Given the description of an element on the screen output the (x, y) to click on. 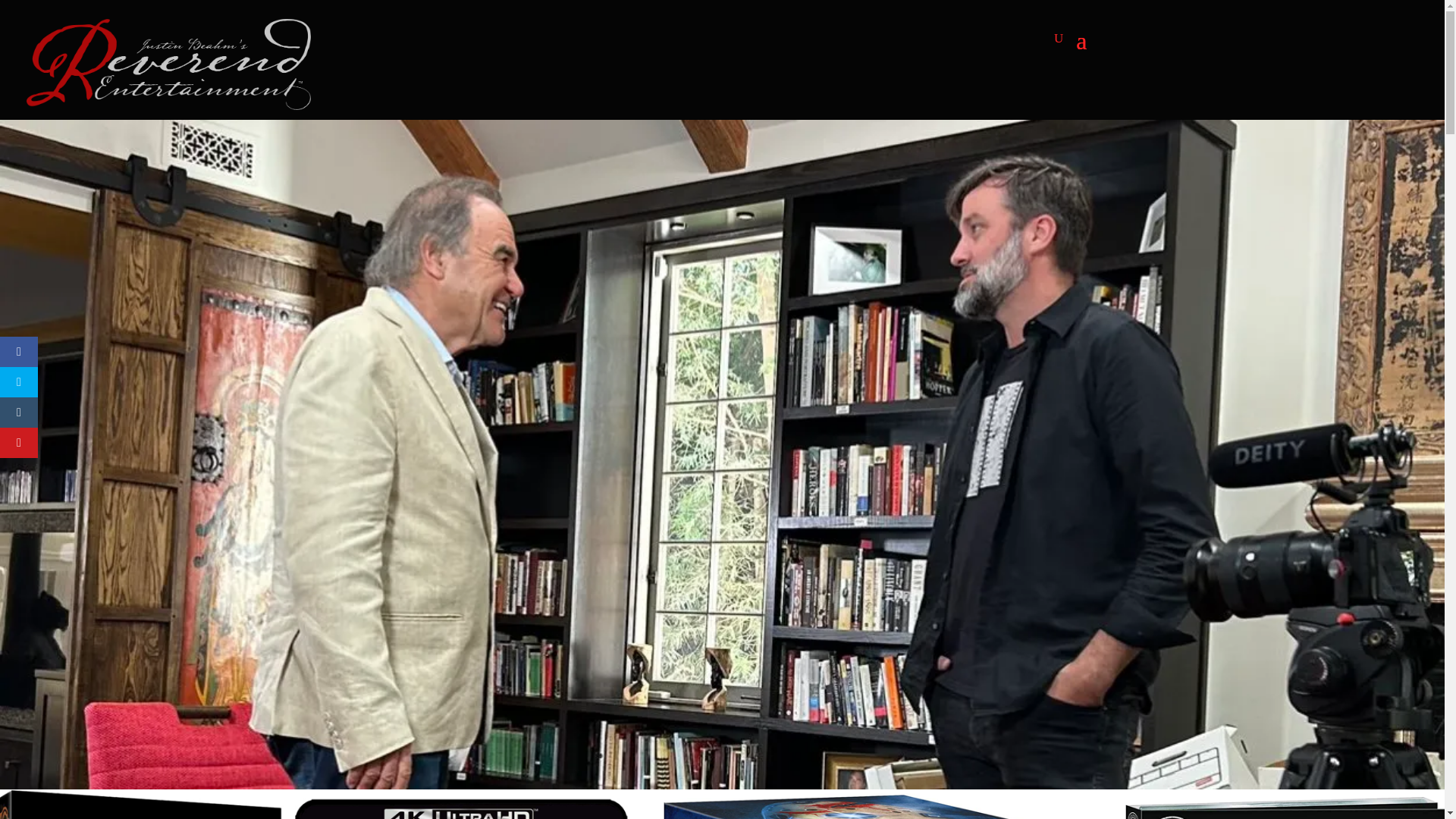
ReverendLogoRev (168, 63)
